Given the description of an element on the screen output the (x, y) to click on. 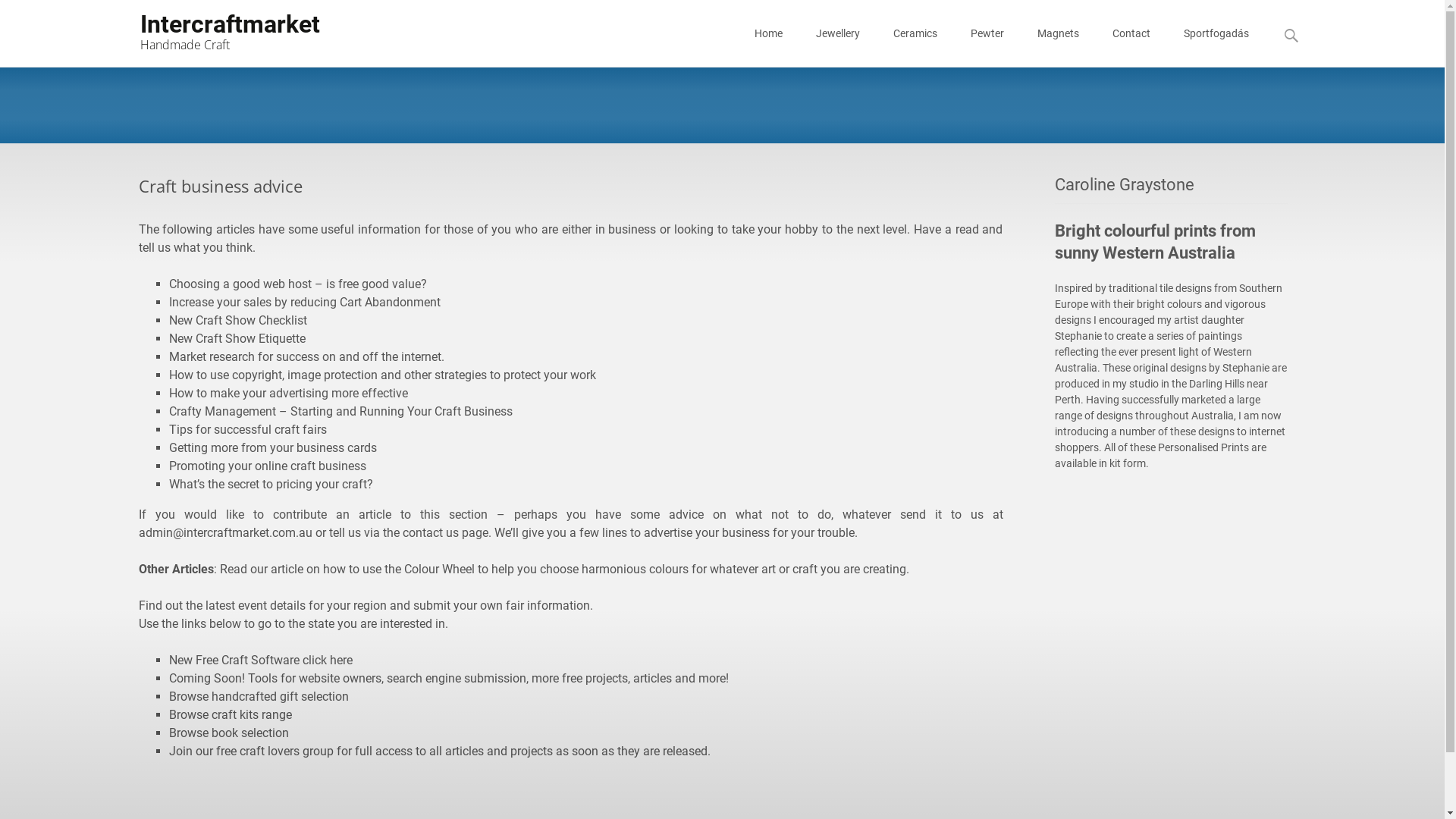
Contact Element type: text (1130, 33)
Pewter Element type: text (987, 33)
Magnets Element type: text (1058, 33)
kit form Element type: text (1127, 463)
Jewellery Element type: text (837, 33)
Home Element type: text (767, 33)
Intercraftmarket
Handmade Craft Element type: text (217, 30)
Search Element type: text (18, 15)
Ceramics Element type: text (915, 33)
